Given the description of an element on the screen output the (x, y) to click on. 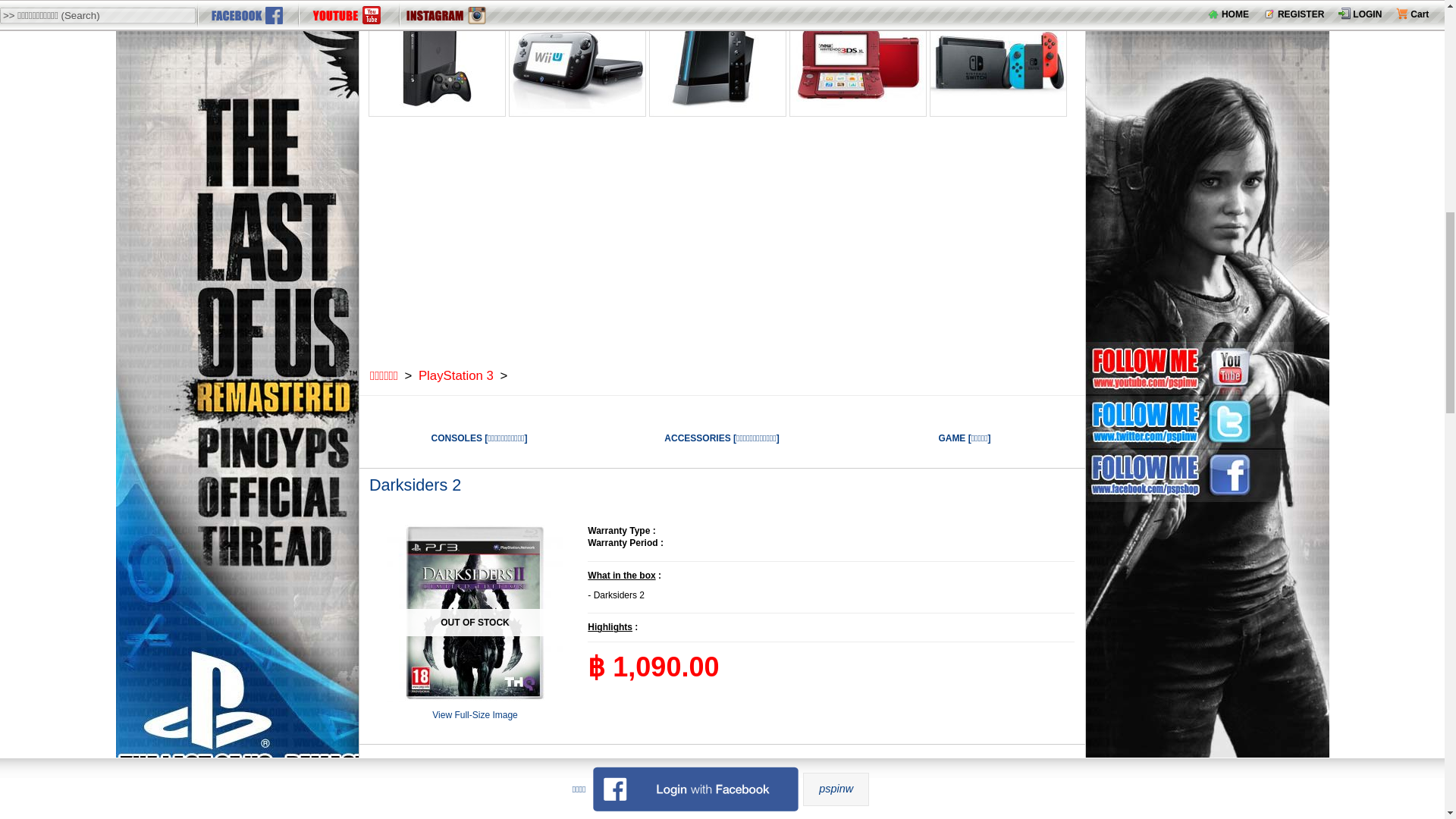
1 (447, 765)
Add to Cart (532, 766)
